Given the description of an element on the screen output the (x, y) to click on. 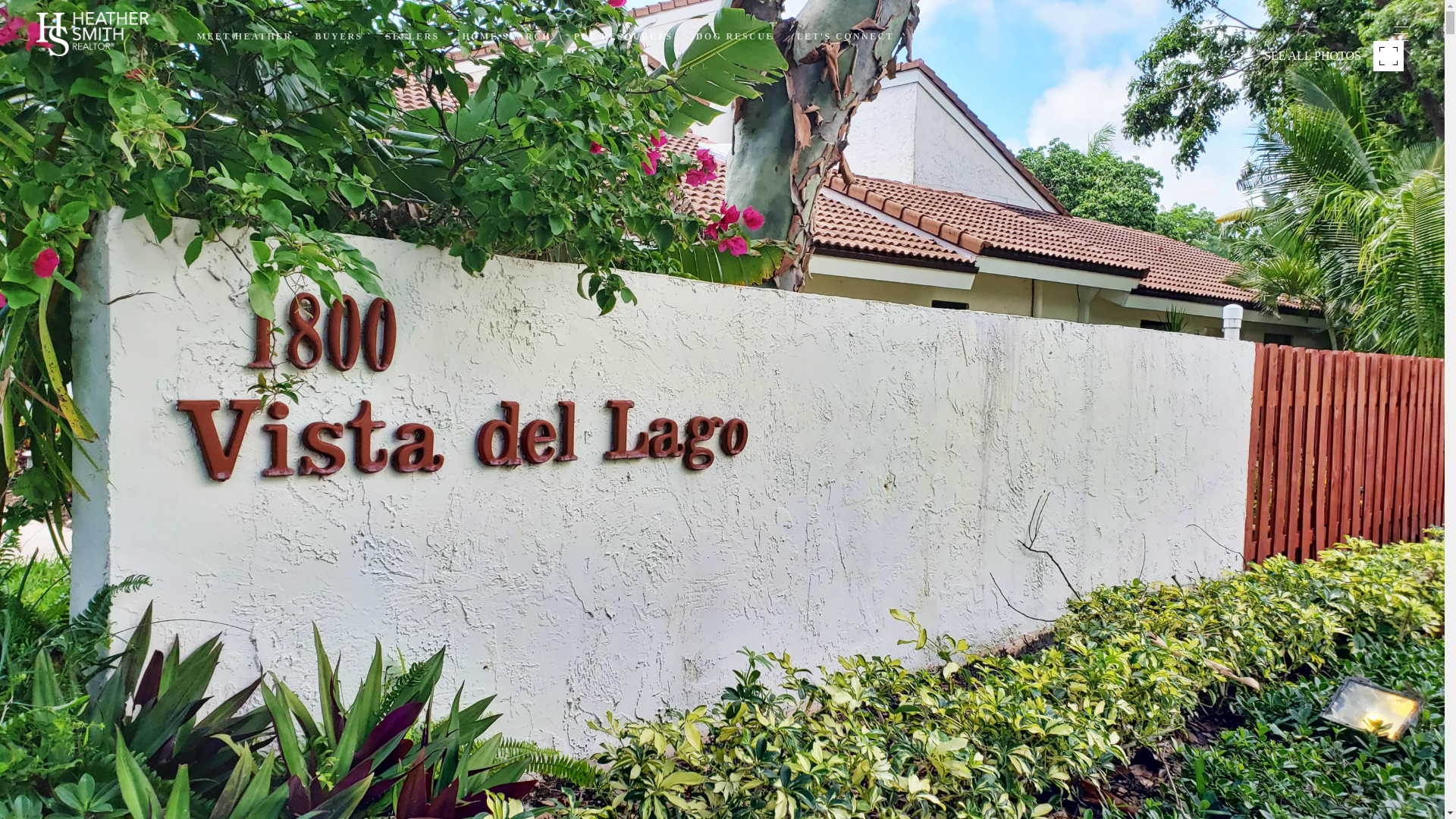
BUYERS (338, 36)
LET'S CONNECT (844, 36)
SELLERS (412, 36)
PET RESOURCES (622, 36)
DOG RESCUE (734, 36)
MEET HEATHER (244, 36)
HOME SEARCH (507, 36)
